Given the description of an element on the screen output the (x, y) to click on. 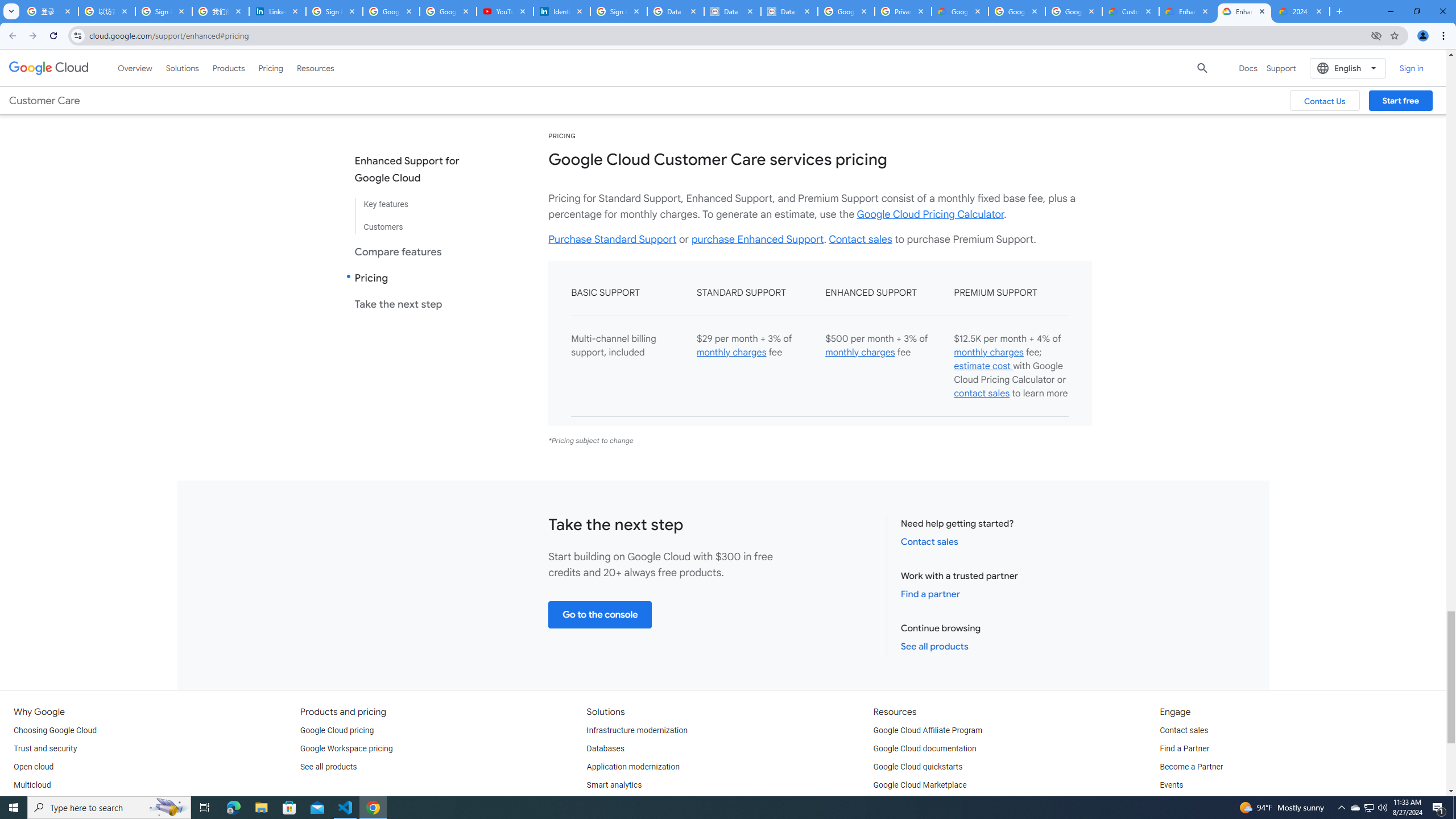
Google Cloud Pricing Calculator (930, 213)
Google Workspace - Specific Terms (1073, 11)
Choosing Google Cloud (55, 730)
Find a partner (929, 594)
Google Cloud documentation (924, 748)
Data Privacy Framework (731, 11)
Compare features (416, 251)
